Given the description of an element on the screen output the (x, y) to click on. 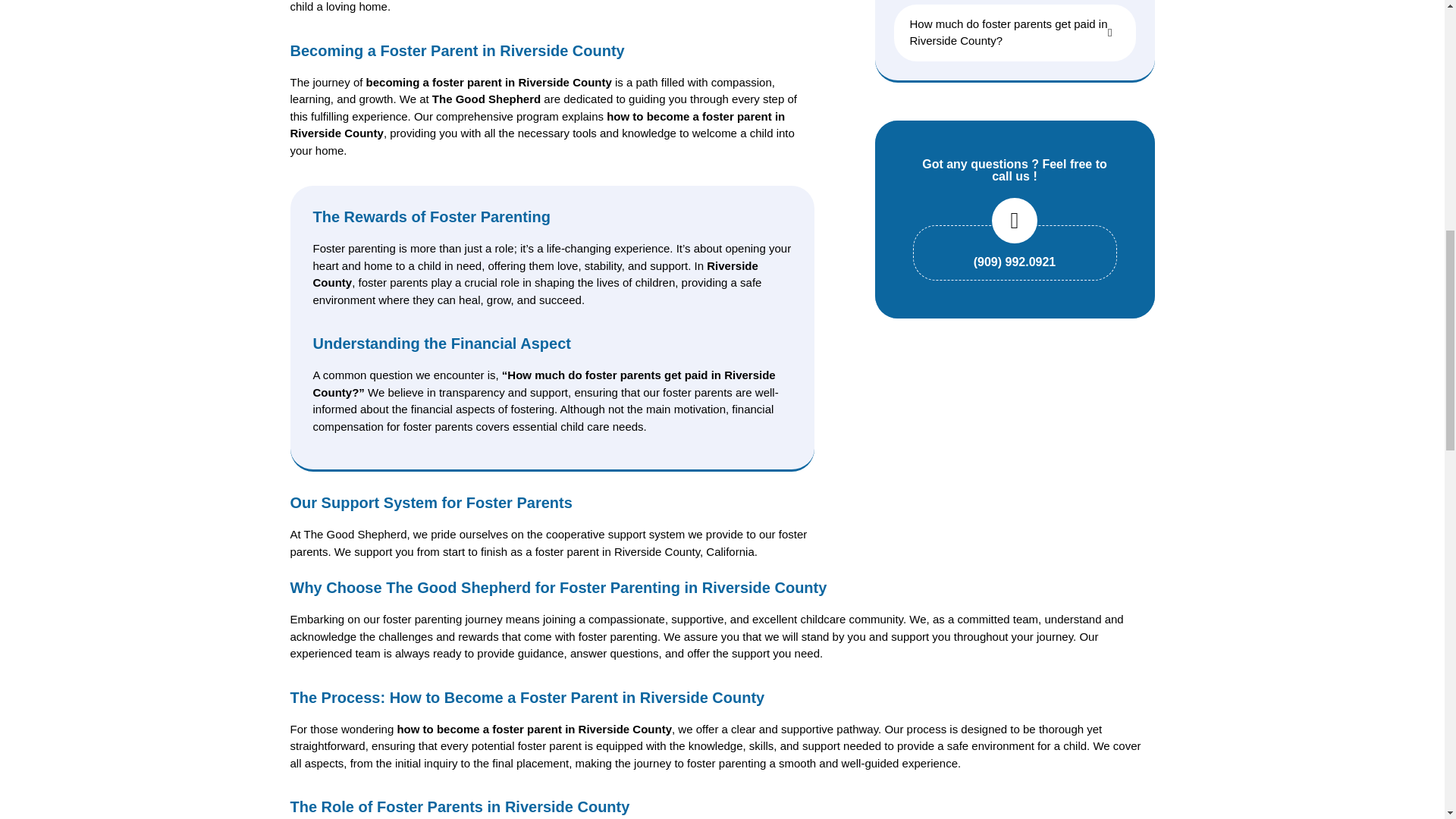
How much do foster parents get paid in Riverside County? (1014, 32)
